Given the description of an element on the screen output the (x, y) to click on. 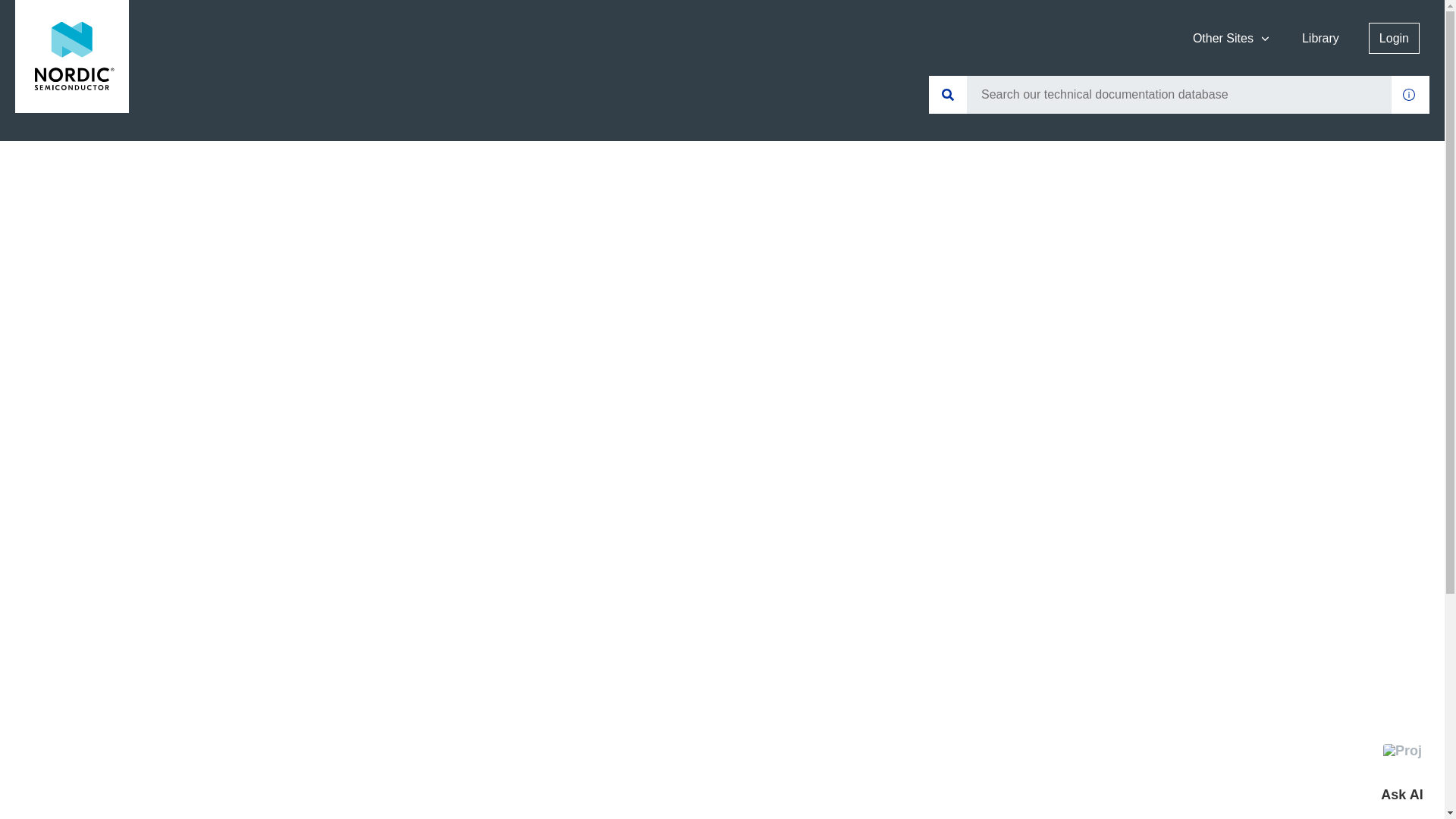
Library (1320, 37)
Login (1393, 38)
Other Sites (1231, 37)
Ask AI (1401, 772)
